Given the description of an element on the screen output the (x, y) to click on. 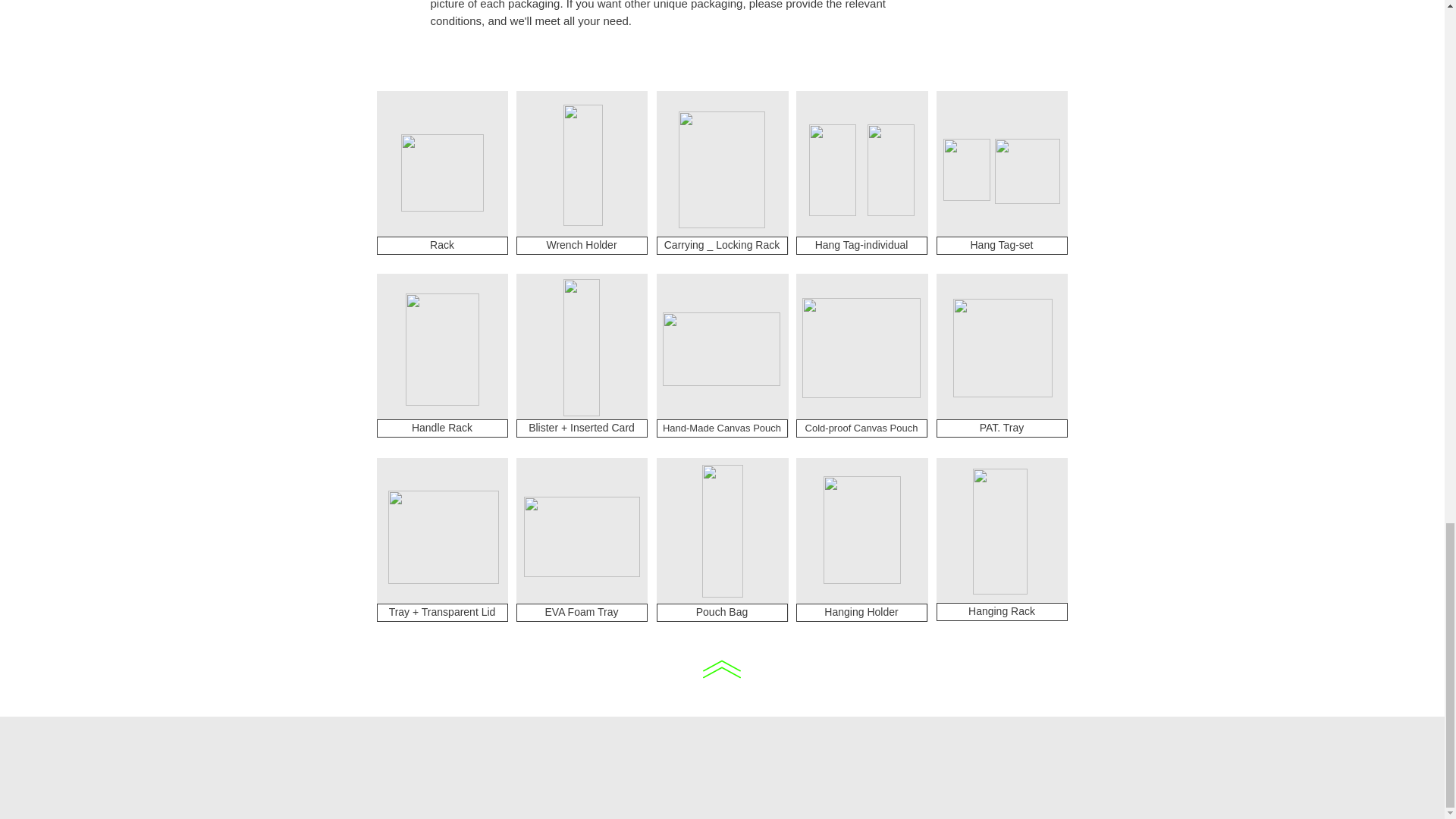
EVA Foam Tray (580, 612)
Hang Tag-set (1026, 170)
Hand-Made Canvas Pouch (721, 428)
Hand-Made Canvas Pouch (721, 348)
Handle Rack (440, 428)
Cold-proof Canvas Pouch (861, 348)
Hang Tag-set (1001, 245)
Hang Tag-individual (861, 245)
Rack (441, 172)
Rack (440, 245)
